Given the description of an element on the screen output the (x, y) to click on. 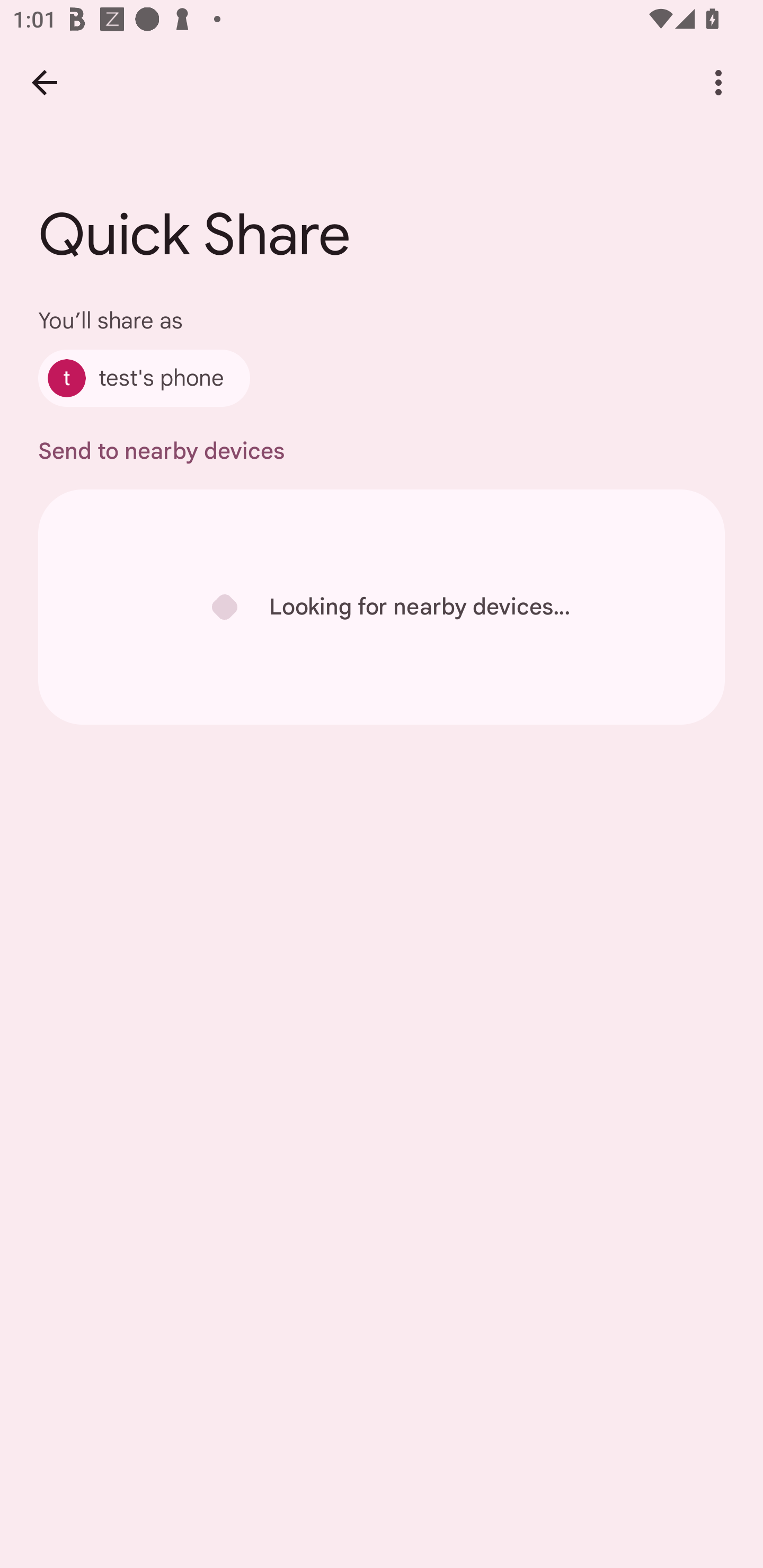
Back (44, 81)
More (718, 81)
test's phone (144, 378)
